Given the description of an element on the screen output the (x, y) to click on. 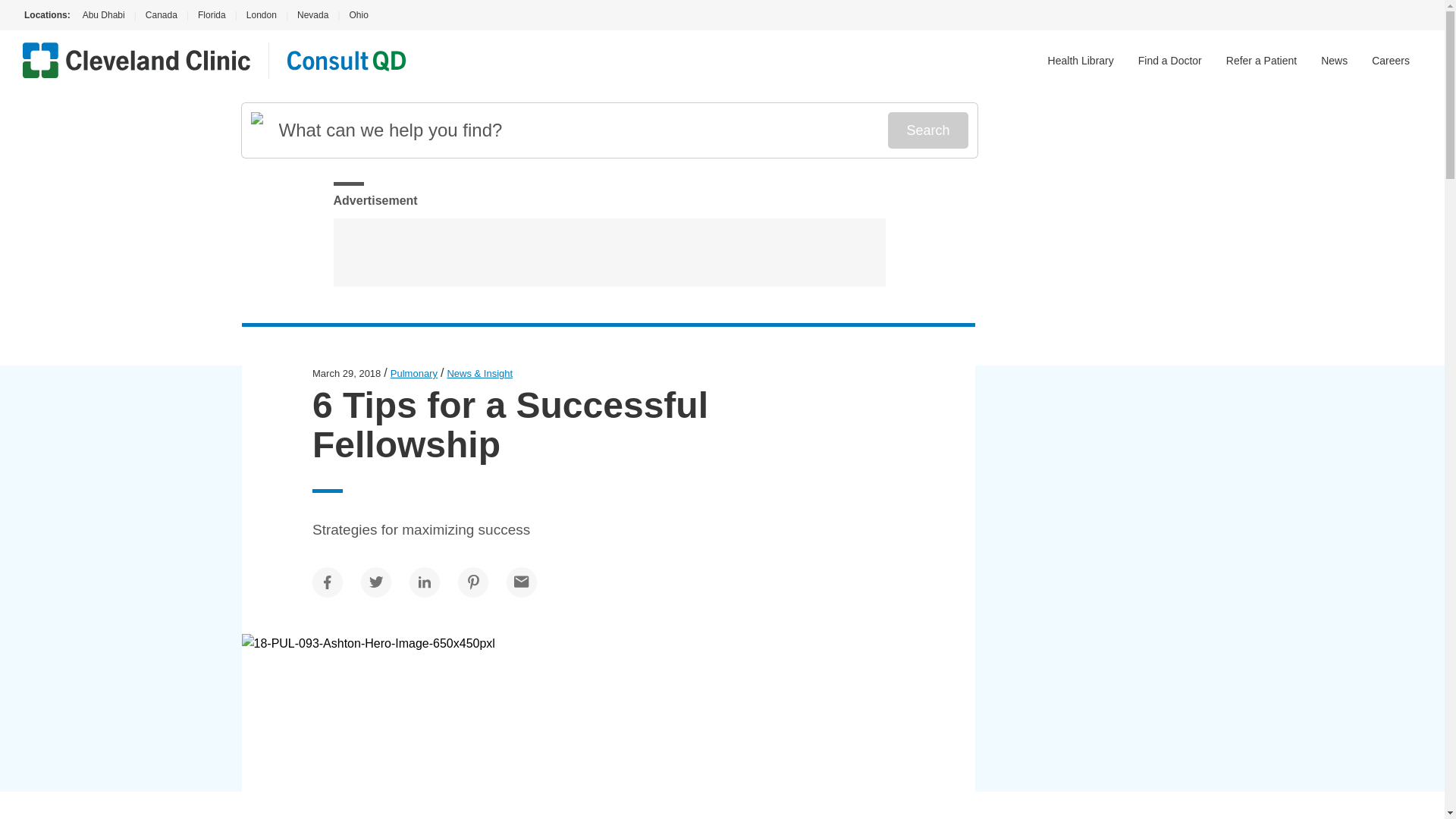
Health Library (1080, 60)
Canada (161, 15)
Florida (211, 15)
Pulmonary (414, 373)
Find a Doctor (1170, 60)
Careers (1390, 60)
Refer a Patient (1261, 60)
Ohio (358, 15)
Abu Dhabi (101, 15)
News (1334, 60)
